Given the description of an element on the screen output the (x, y) to click on. 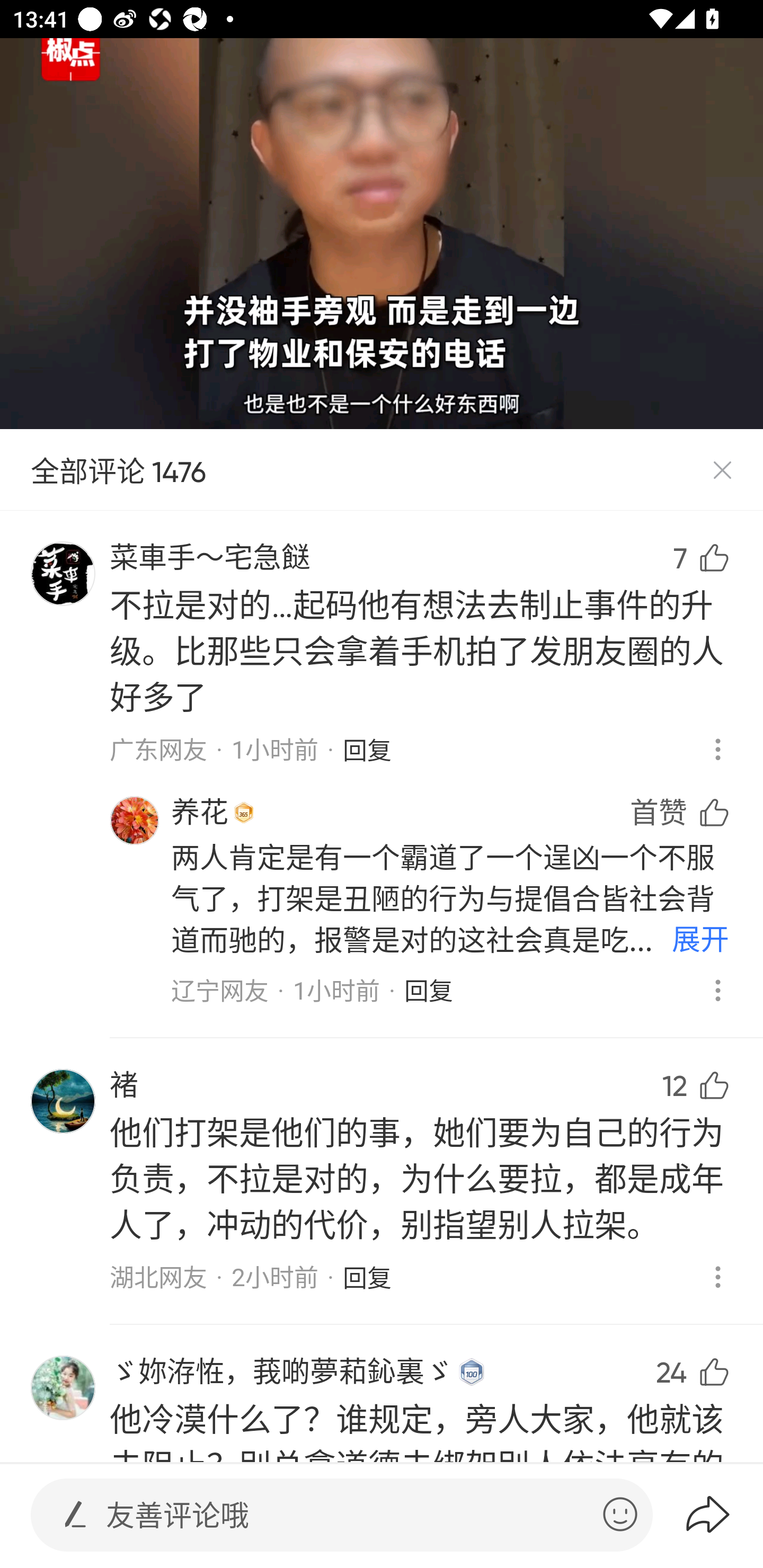
全部评论 1476 关闭 (381, 470)
关闭 (722, 470)
UserRightLabel_OneMedalView 勋章 (243, 812)
展开 (700, 940)
评论  1476 (696, 1045)
分享  分享 (696, 1315)
UserRightLabel_OneMedalView 勋章 (471, 1371)
友善评论哦 发表评论 (346, 1515)
 分享 (723, 1514)
 (75, 1514)
 (619, 1514)
